Given the description of an element on the screen output the (x, y) to click on. 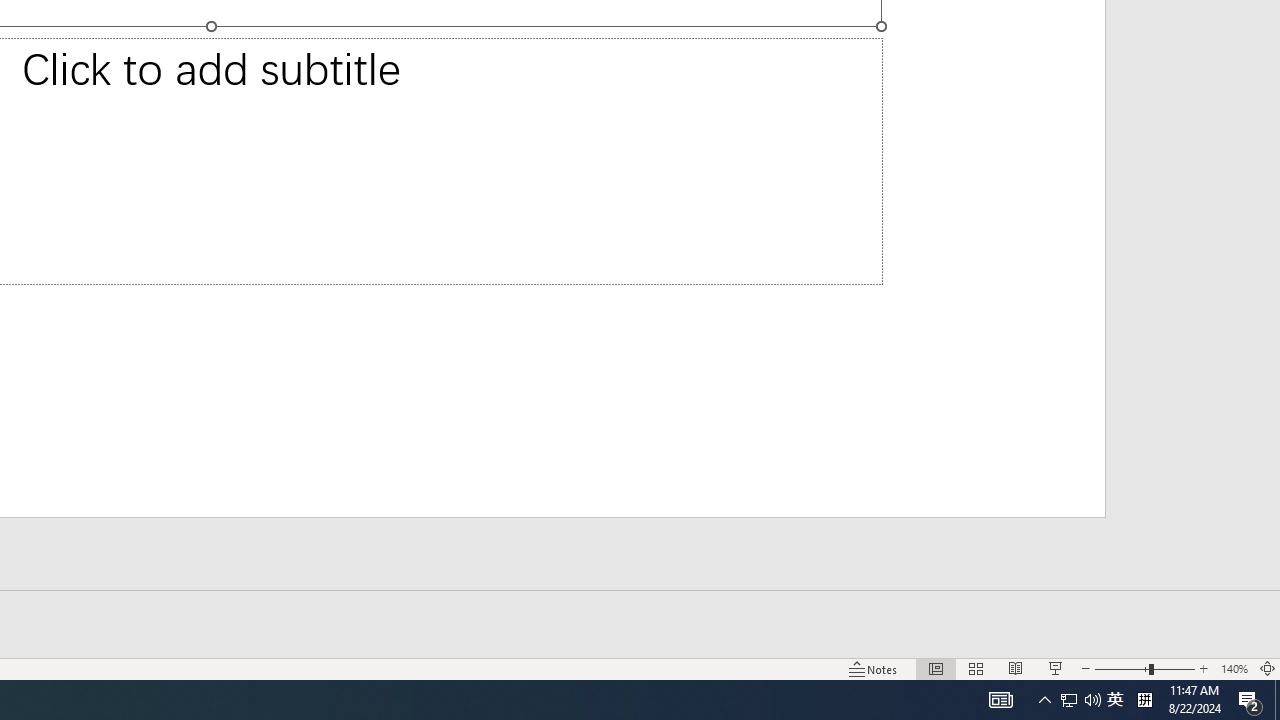
Zoom 140% (1234, 668)
